Given the description of an element on the screen output the (x, y) to click on. 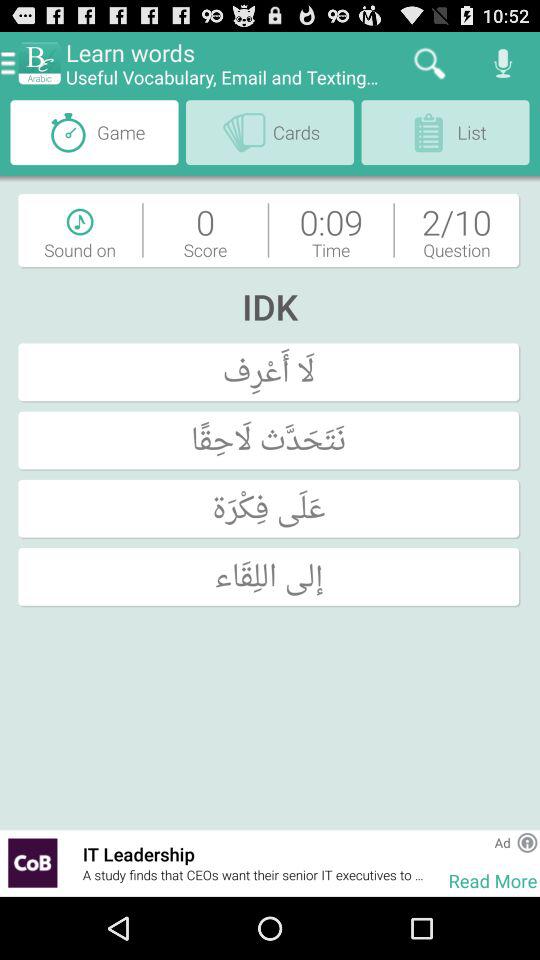
tap item above read more icon (502, 842)
